Given the description of an element on the screen output the (x, y) to click on. 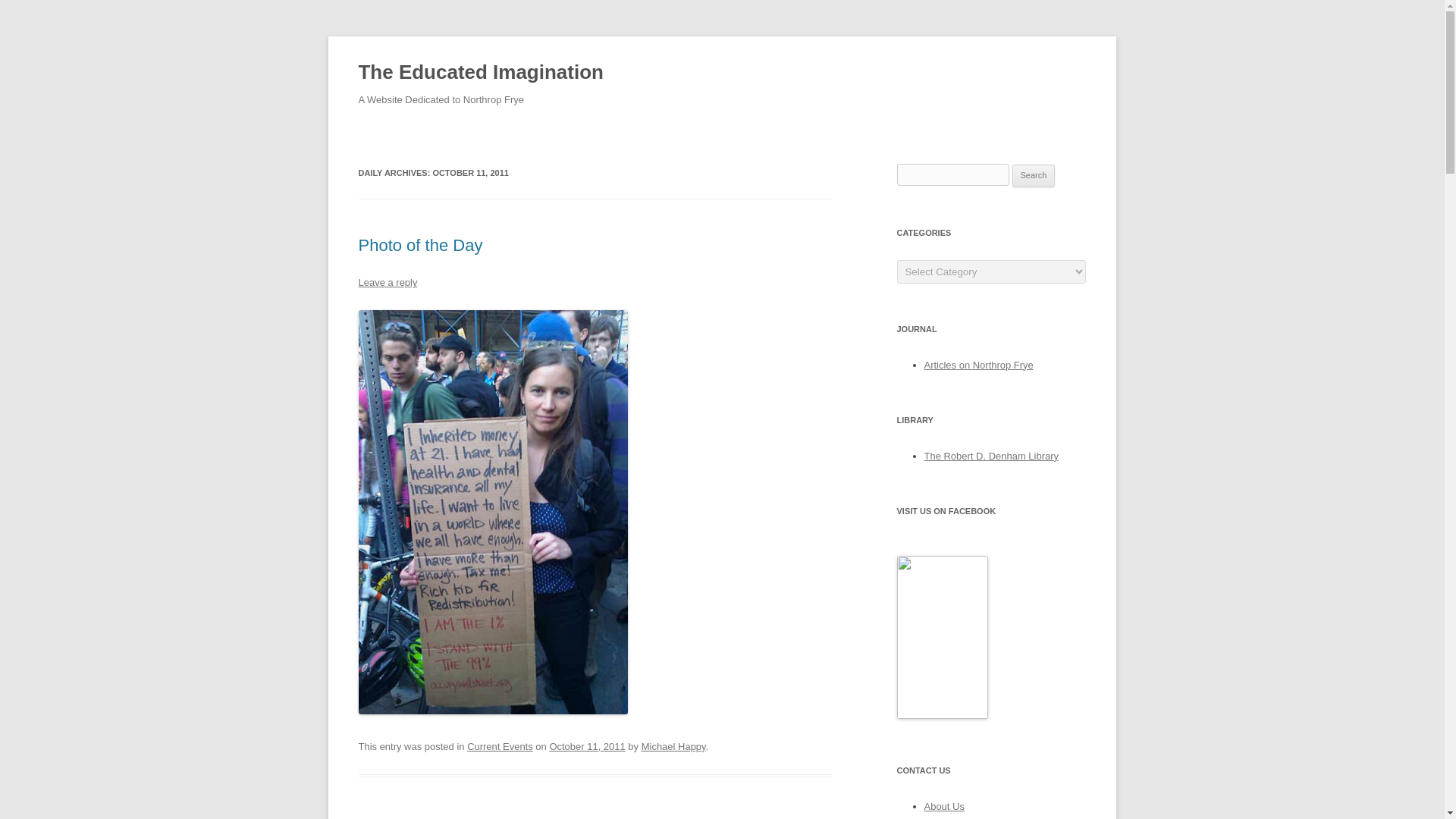
Current Events (499, 746)
10:12 pm (586, 746)
The Educated Imagination (480, 72)
Photo of the Day (419, 244)
Michael Happy (674, 746)
Leave a reply (387, 282)
October 11, 2011 (586, 746)
Northrop Frye Blog (941, 715)
The Robert D. Denham Library (990, 455)
